Given the description of an element on the screen output the (x, y) to click on. 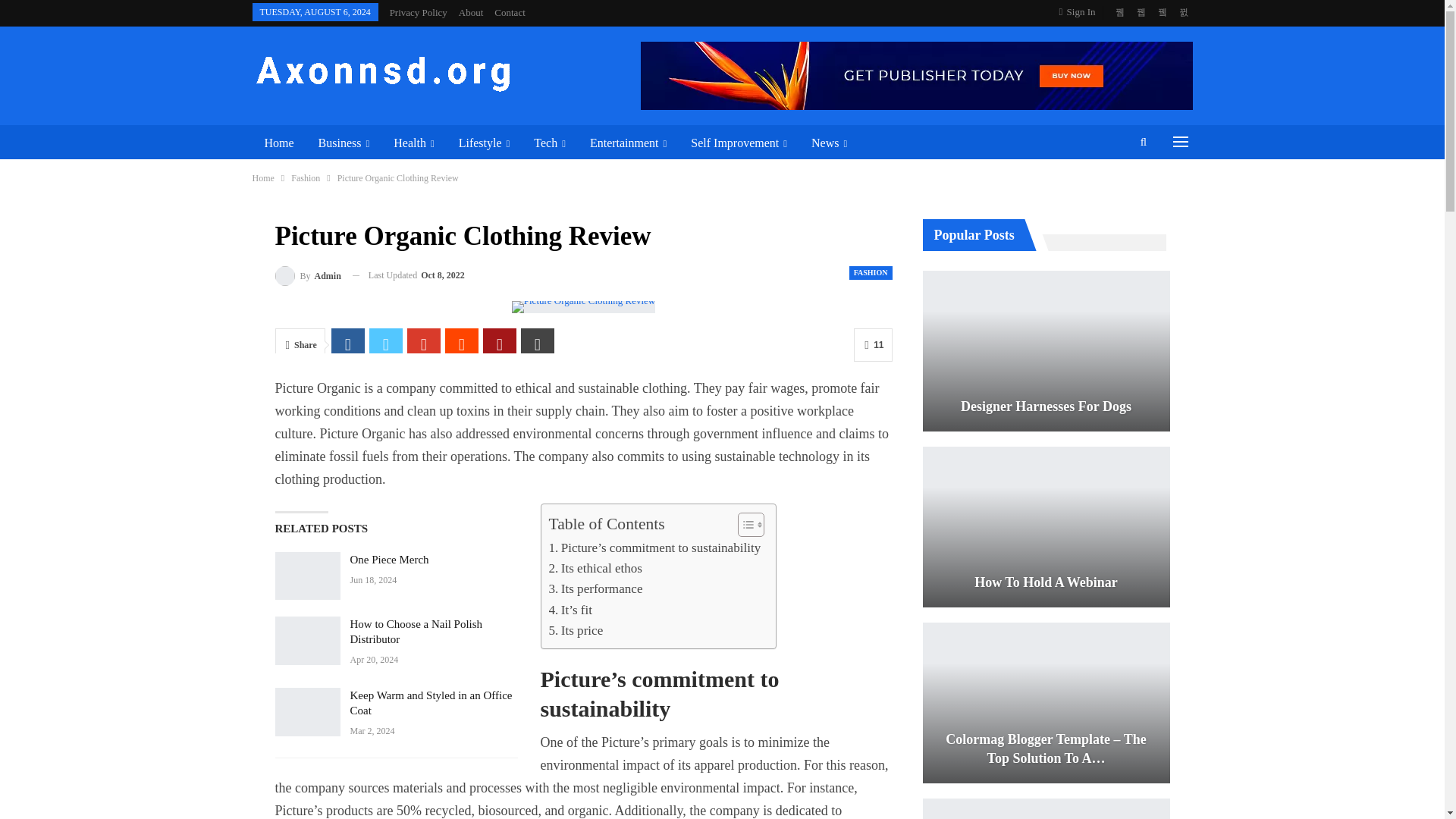
Health (413, 143)
Browse Author Articles (307, 275)
Tech (549, 143)
About (470, 12)
Its ethical ethos (595, 567)
Sign In (1080, 12)
Home (278, 143)
Its price (576, 629)
Its performance (595, 588)
Lifestyle (484, 143)
Contact (509, 12)
Privacy Policy (418, 12)
How to Choose a Nail Polish Distributor (307, 640)
Business (343, 143)
One Piece Merch (307, 576)
